Given the description of an element on the screen output the (x, y) to click on. 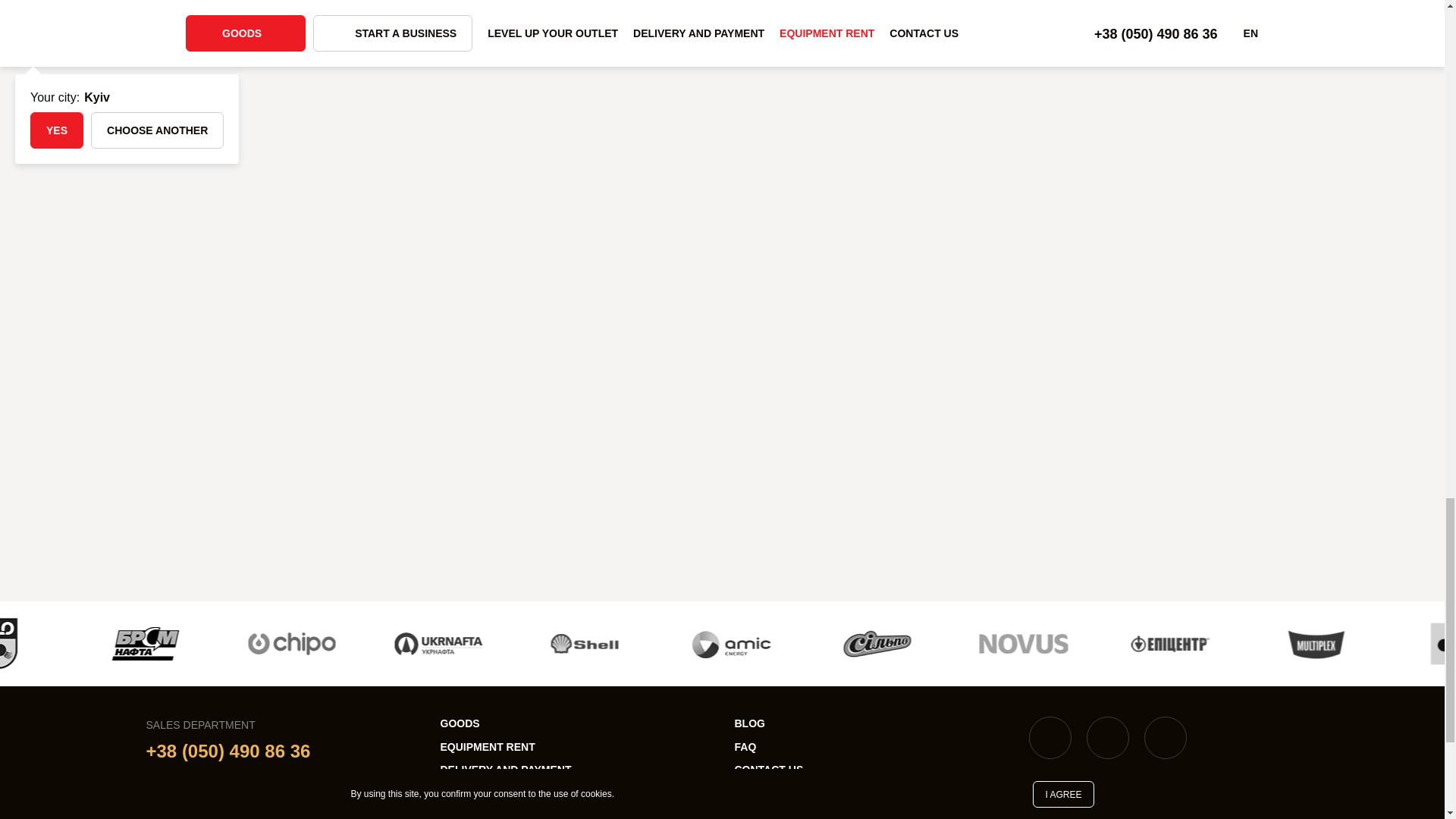
Youtube (1164, 737)
GOODS (459, 723)
Instagram (1107, 737)
FAQ (744, 746)
ABOUT COMPANY (486, 792)
DELIVERY AND PAYMENT (504, 769)
Facebook (1048, 737)
BLOG (748, 723)
